Given the description of an element on the screen output the (x, y) to click on. 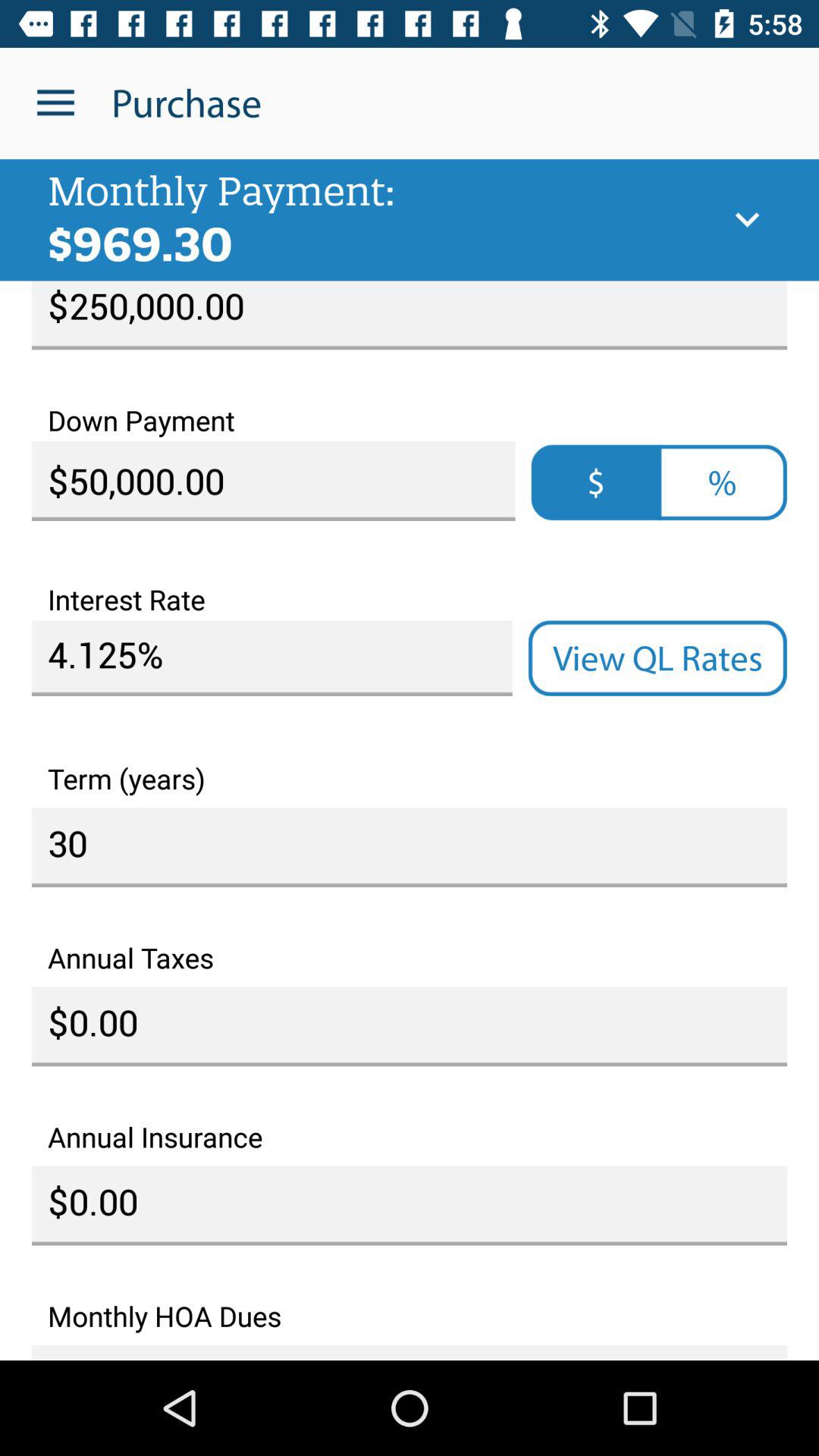
launch the item below interest rate (271, 658)
